Given the description of an element on the screen output the (x, y) to click on. 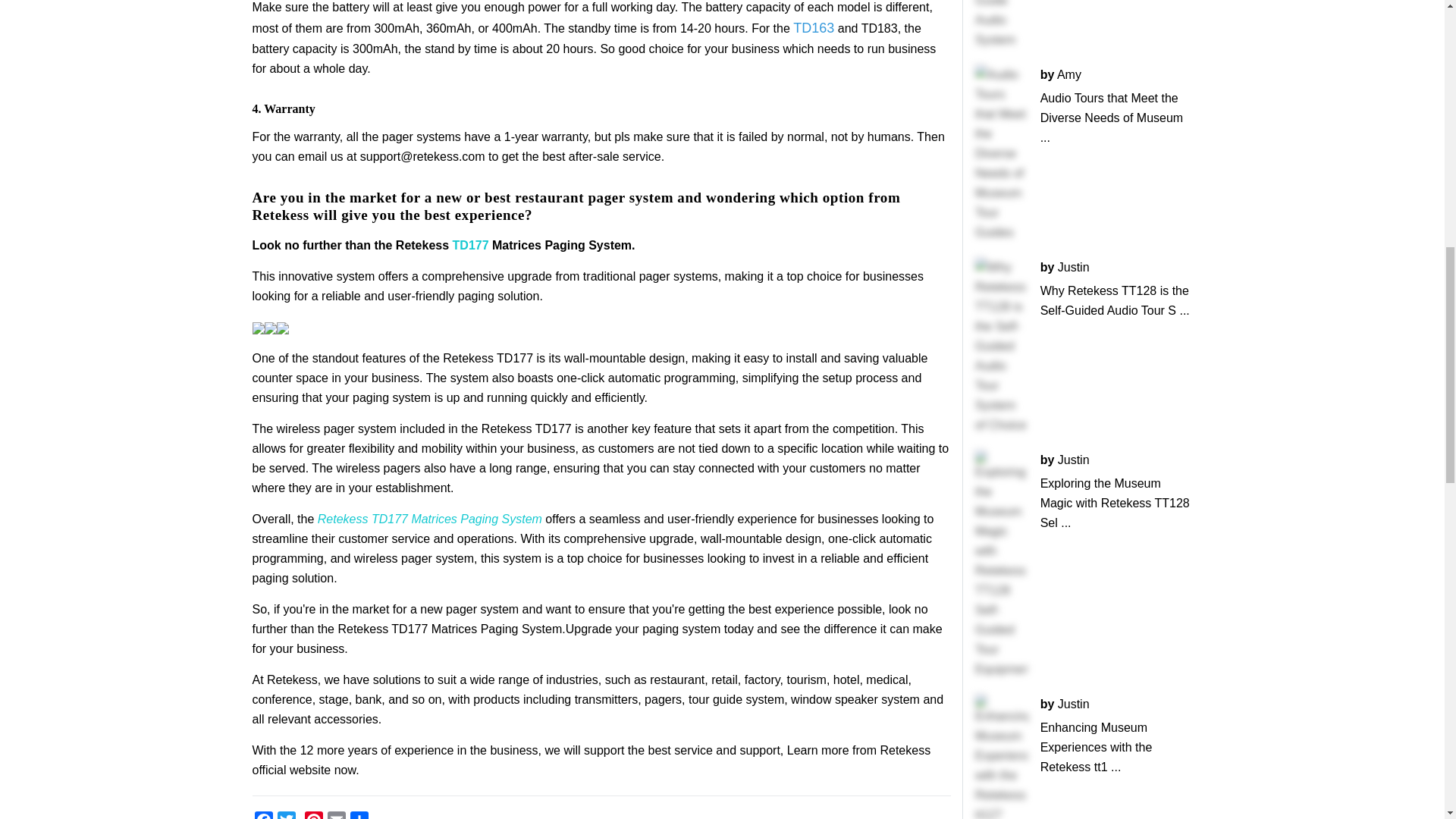
Email (336, 815)
Pinterest (313, 815)
Facebook (263, 815)
long range system LRS  (813, 28)
Twitter (286, 815)
